Given the description of an element on the screen output the (x, y) to click on. 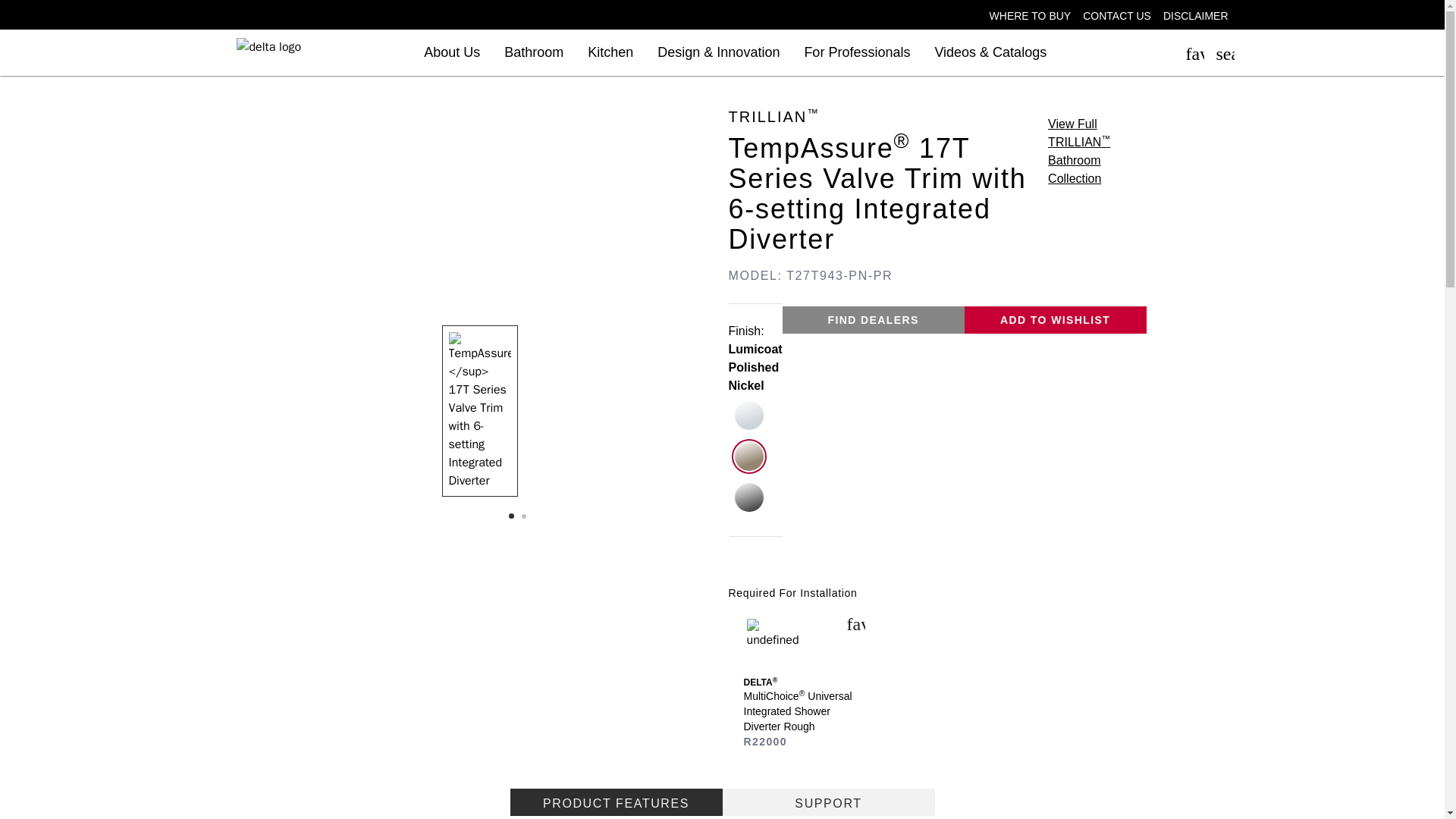
WHERE TO BUY (1036, 15)
About Us (451, 52)
DISCLAIMER (1206, 15)
CONTACT US (1123, 15)
Bathroom (533, 52)
